Given the description of an element on the screen output the (x, y) to click on. 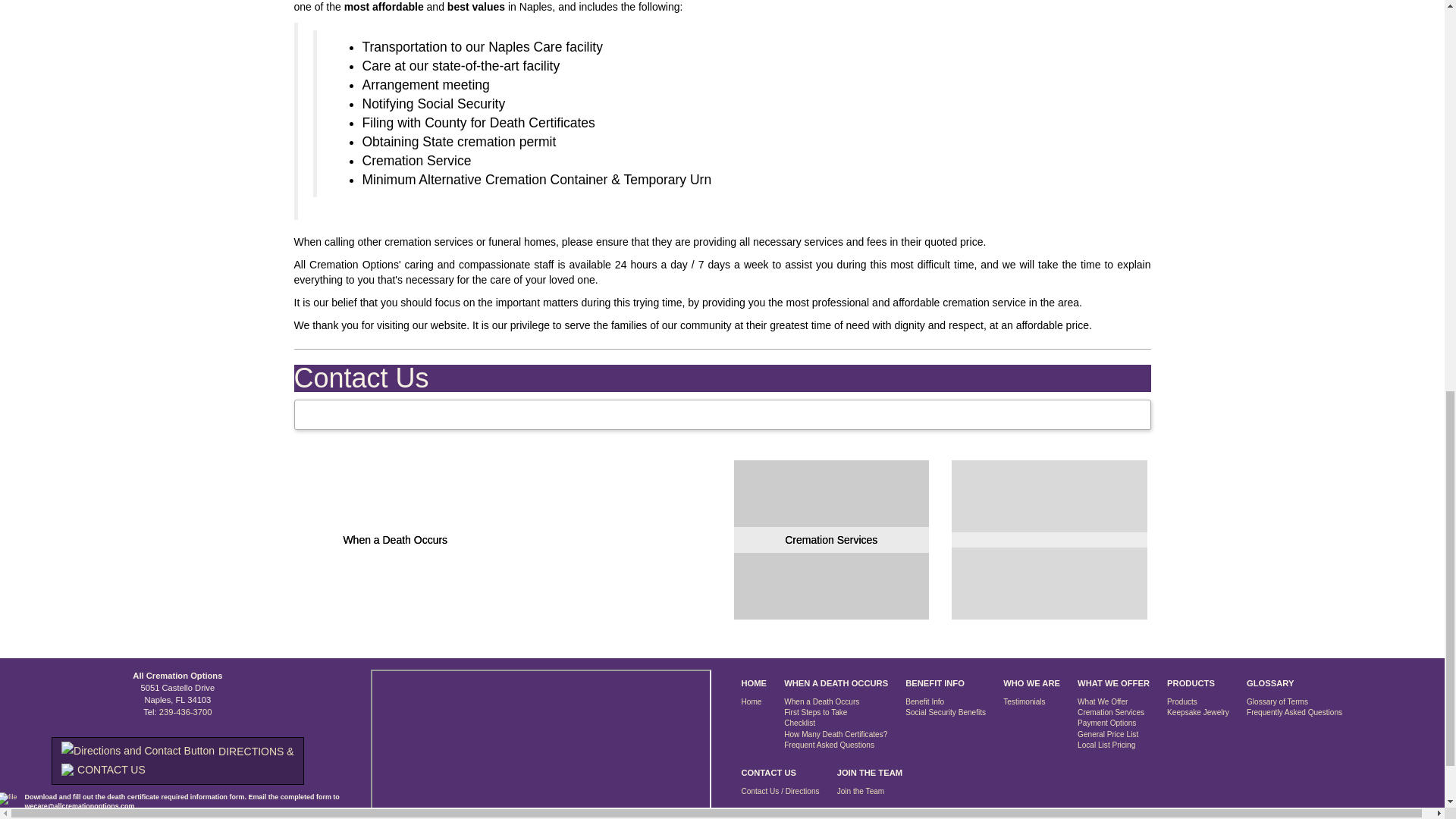
Directions and Contact Us (177, 760)
